Given the description of an element on the screen output the (x, y) to click on. 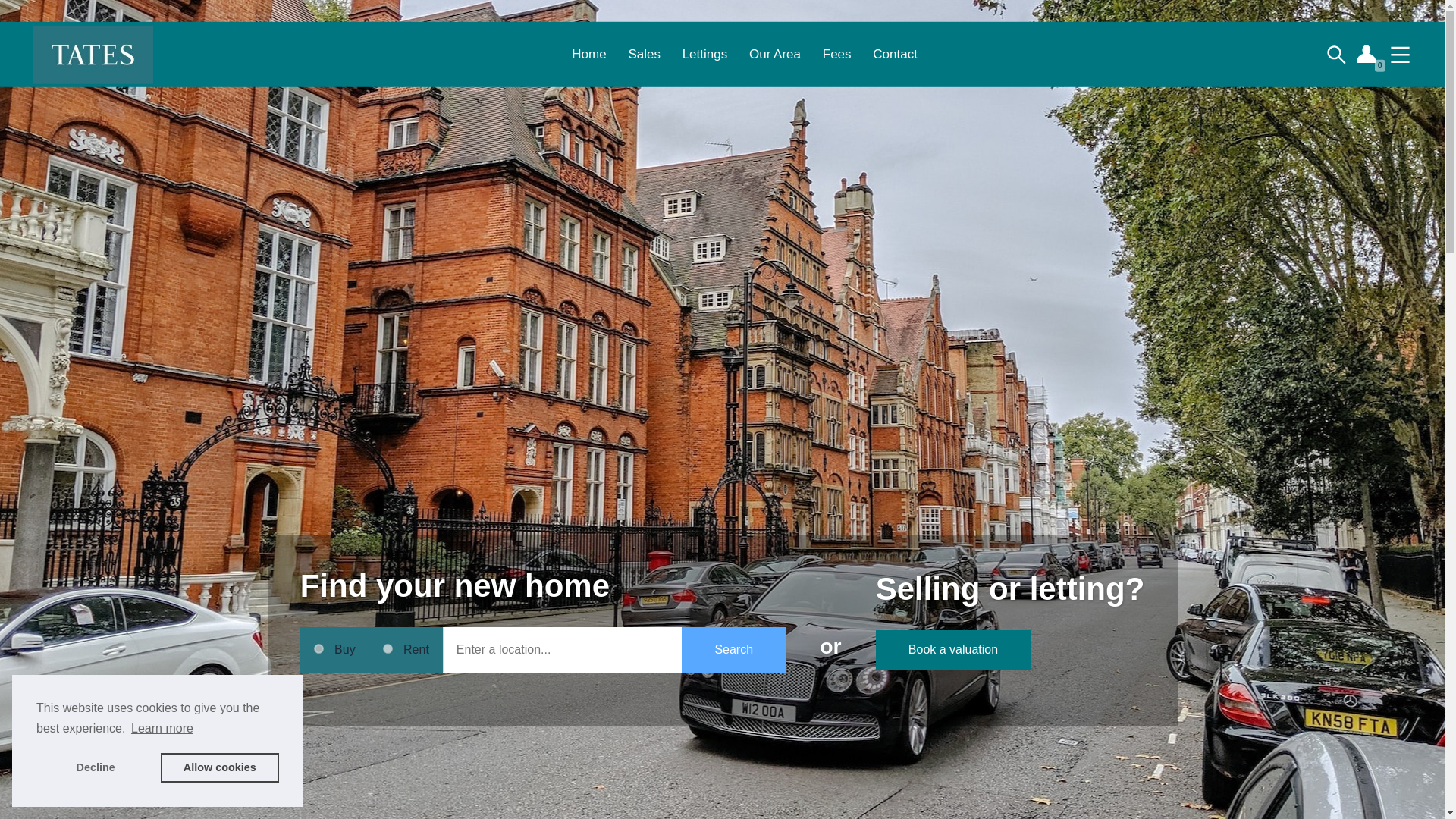
0 (1368, 54)
Learn more (162, 728)
Search (733, 649)
X icon (28, 787)
Allow cookies (219, 767)
Our Area (775, 54)
X icon (30, 788)
Home (588, 54)
Book a valuation (953, 649)
lettings (387, 648)
Decline (95, 767)
sales (318, 648)
Contact (895, 54)
